Given the description of an element on the screen output the (x, y) to click on. 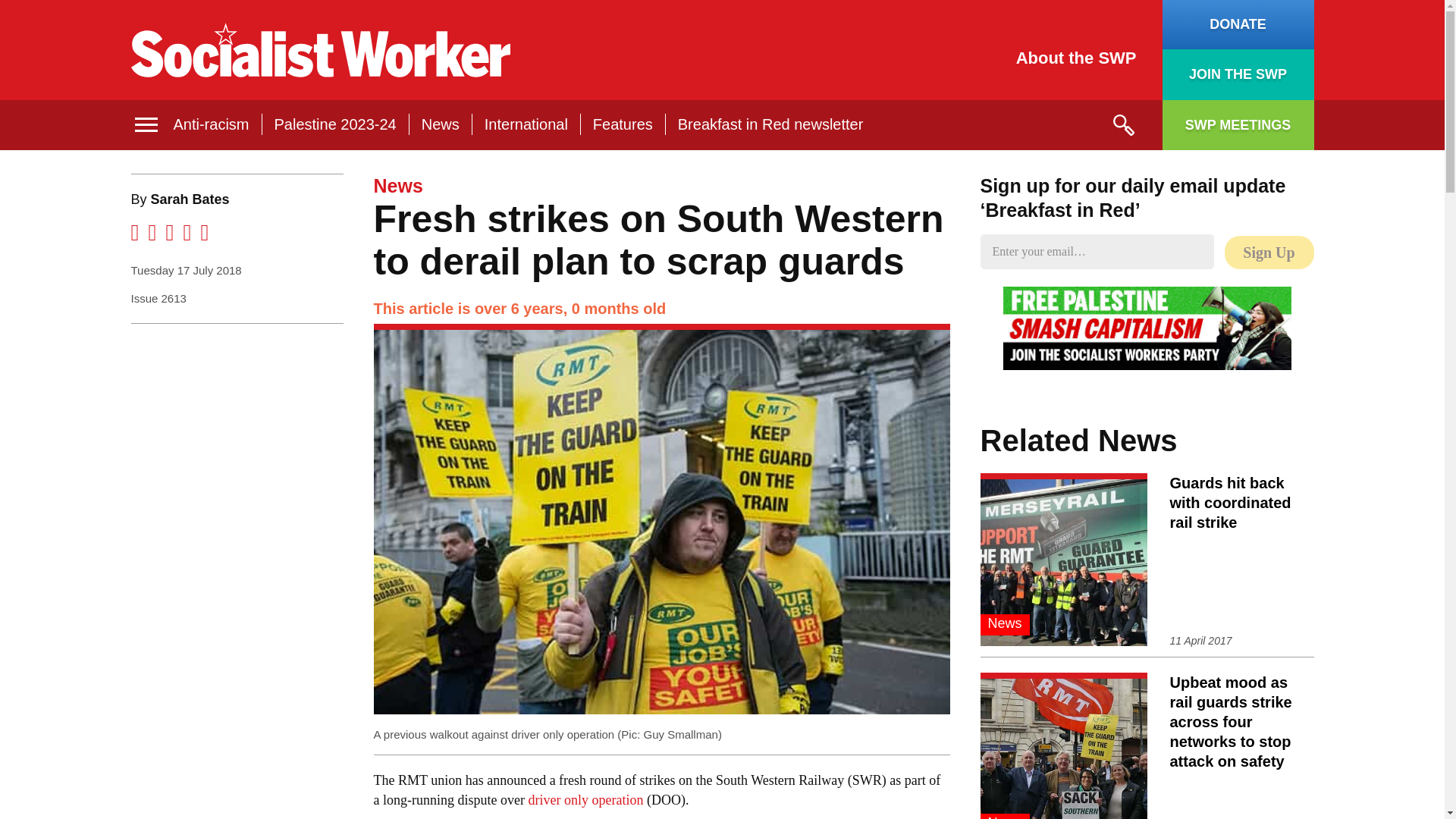
Breakfast in Red newsletter (770, 124)
International (525, 124)
News (441, 124)
Features (622, 124)
Sign Up (1268, 252)
Palestine 2023-24 (335, 124)
SWP MEETINGS (1237, 124)
Search Button (1123, 124)
Anti-racism (210, 124)
